Given the description of an element on the screen output the (x, y) to click on. 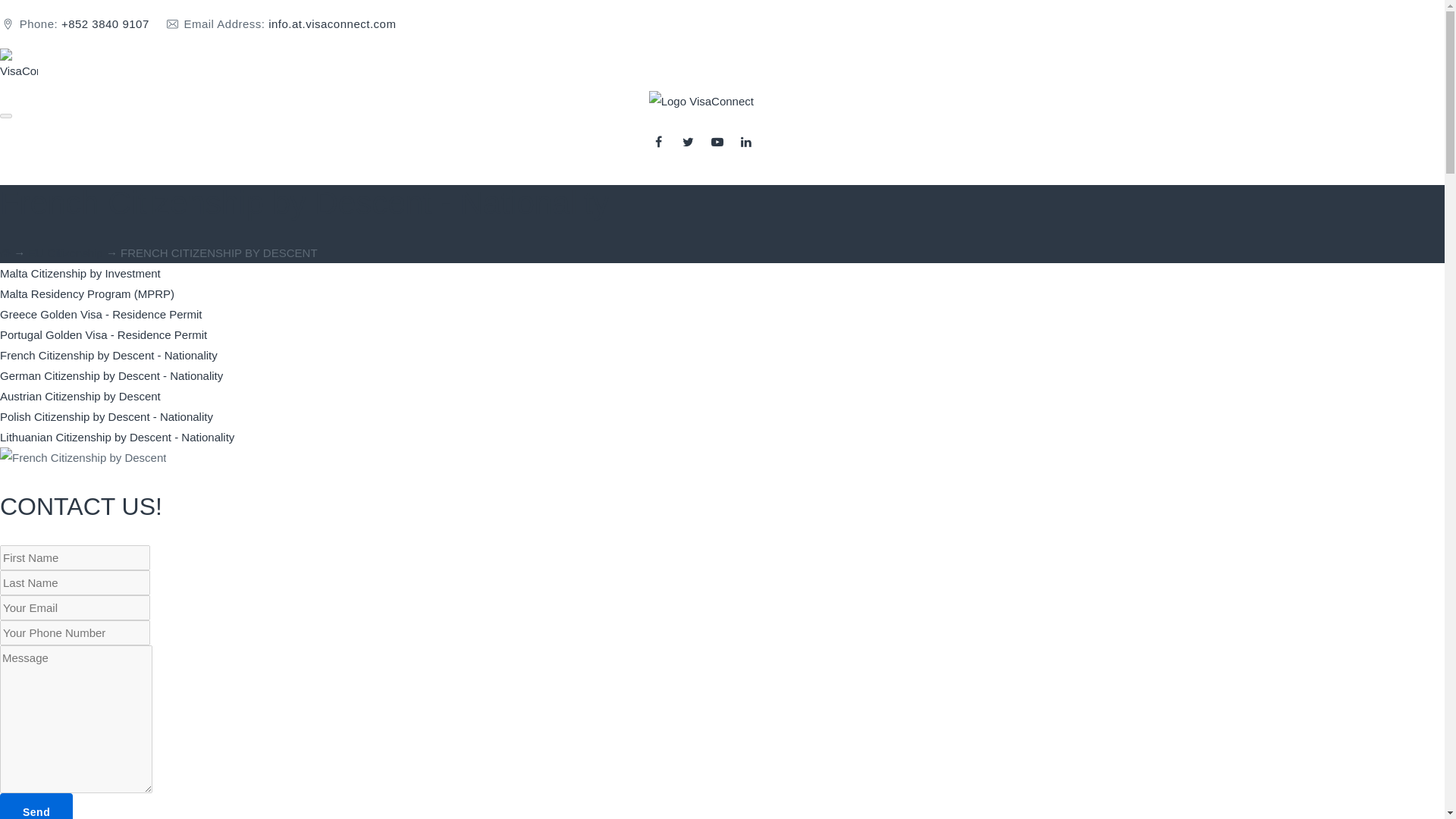
AUSTRALIAN VISAS (215, 150)
UK VISAS (325, 150)
ABOUT US (103, 150)
US VISAS (405, 150)
About Us (103, 150)
Australian Visas (215, 150)
info.at.visaconnect.com (331, 23)
Globe Logo VisaConnect (18, 67)
Home Page Link (18, 91)
